Given the description of an element on the screen output the (x, y) to click on. 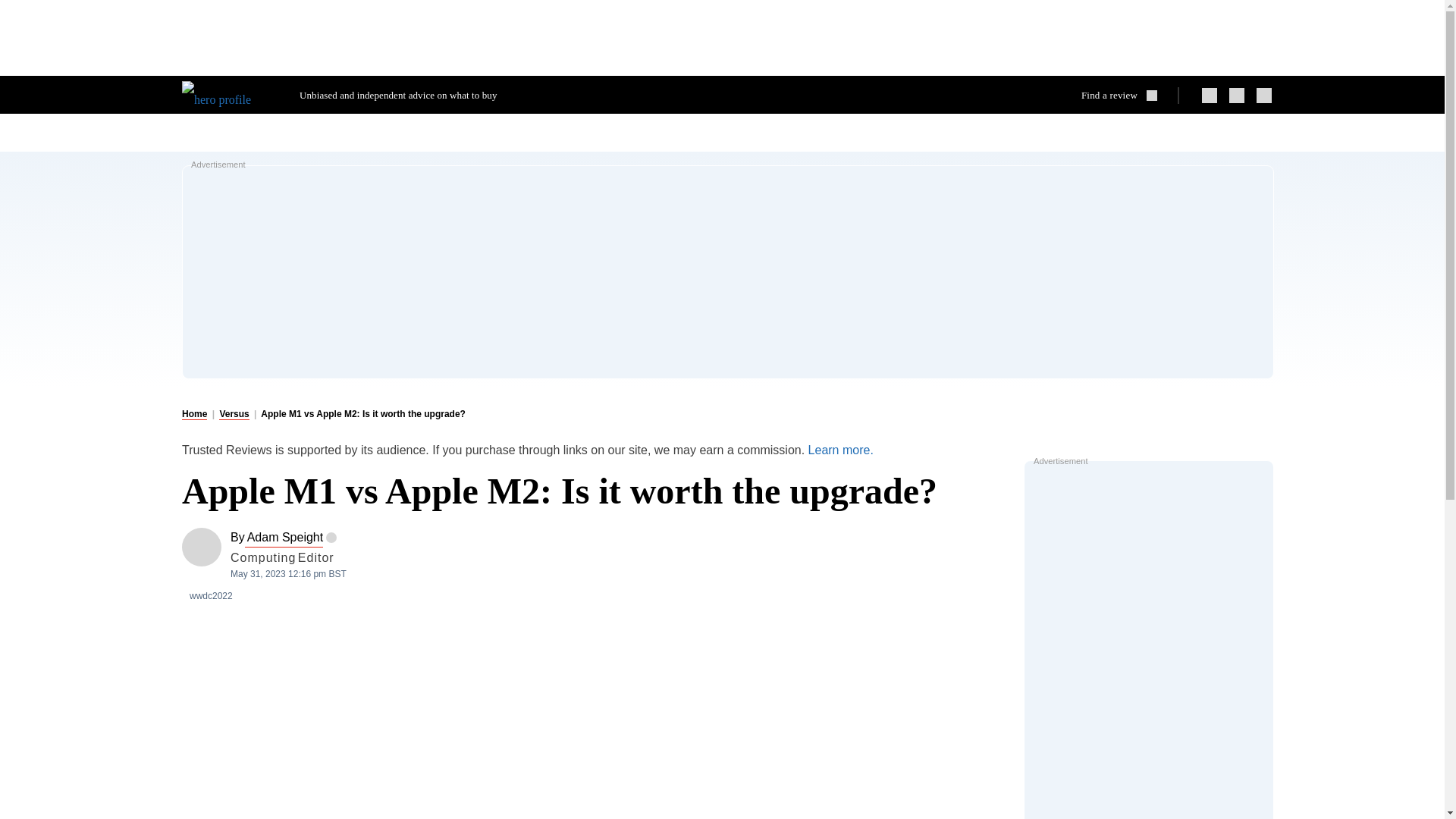
Search the site (1124, 94)
Trusted Reviews (229, 94)
Find a review (1124, 94)
